Given the description of an element on the screen output the (x, y) to click on. 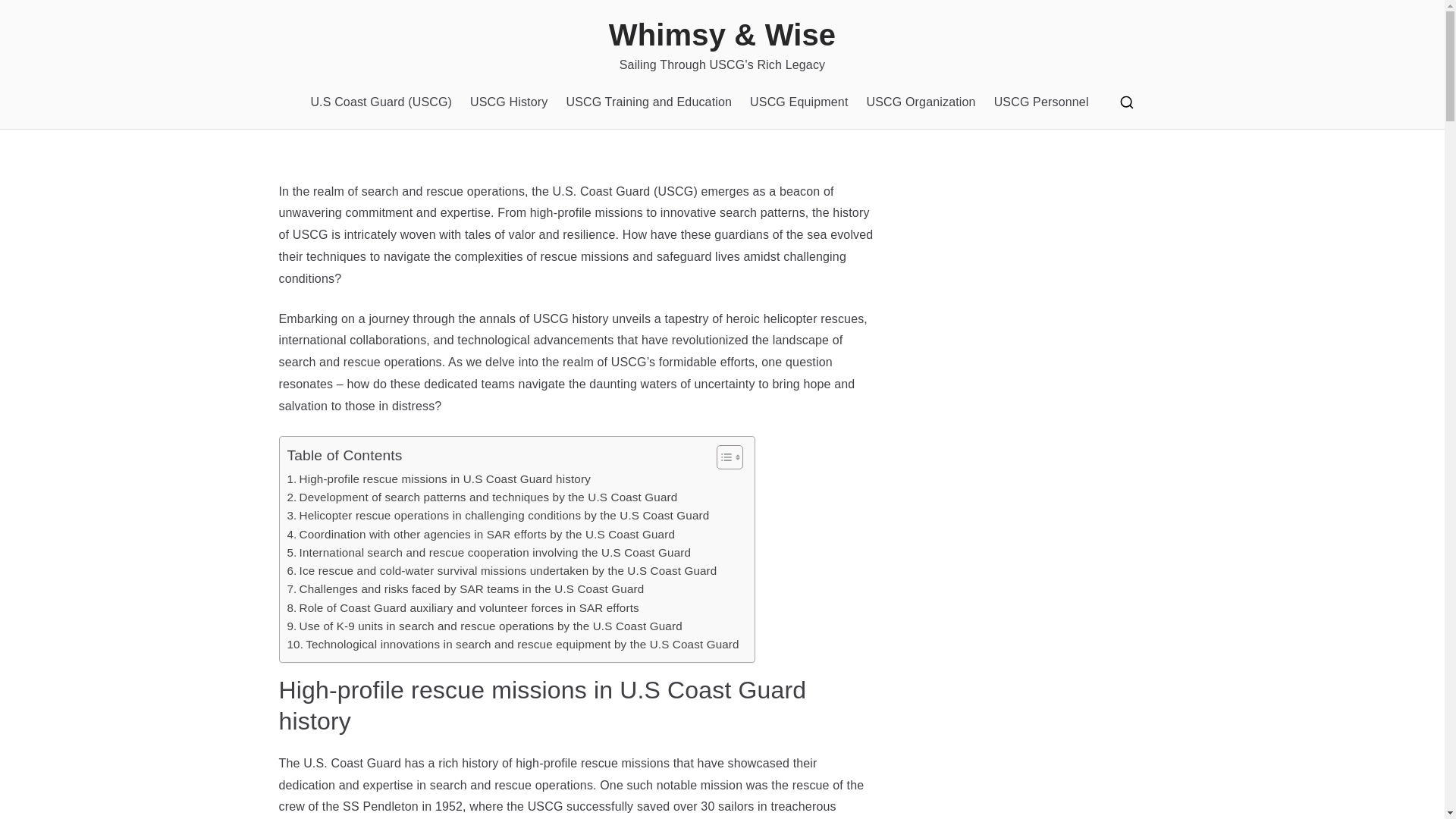
USCG Organization (920, 102)
Search (26, 18)
USCG Equipment (798, 102)
USCG History (508, 102)
